Given the description of an element on the screen output the (x, y) to click on. 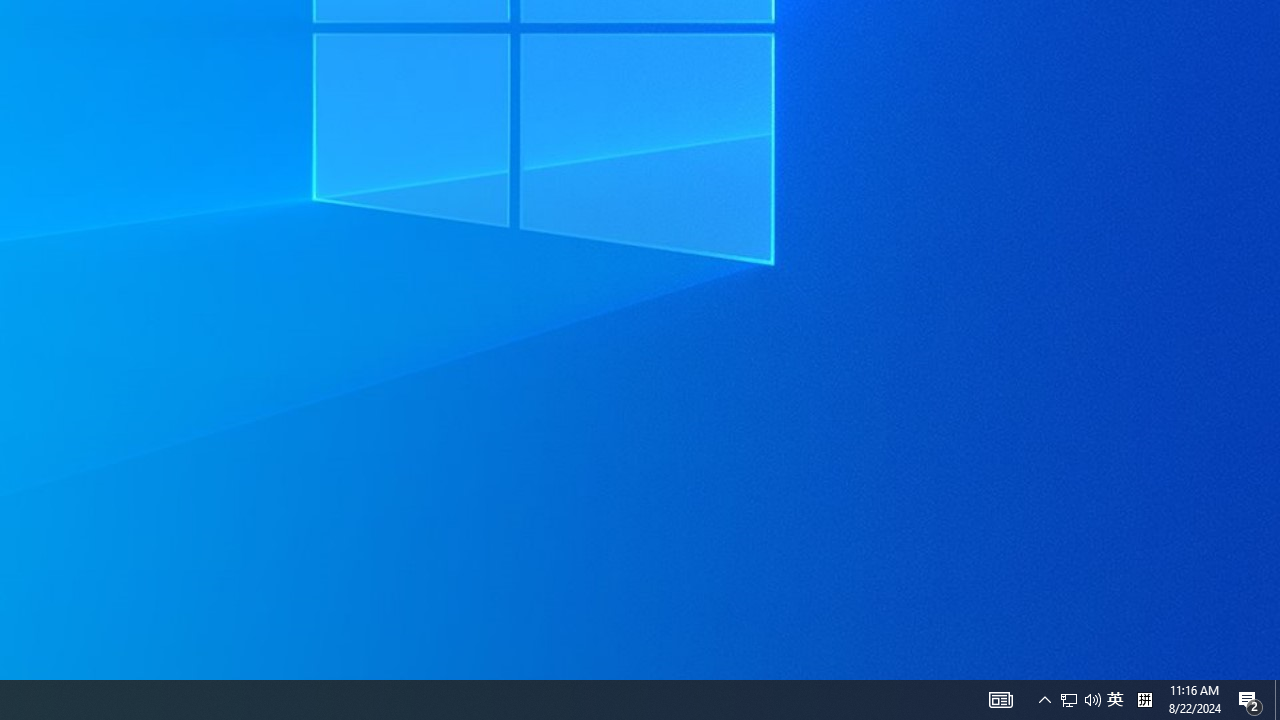
Q2790: 100% (1092, 699)
Action Center, 2 new notifications (1069, 699)
Notification Chevron (1115, 699)
AutomationID: 4105 (1250, 699)
Show desktop (1044, 699)
User Promoted Notification Area (1000, 699)
Tray Input Indicator - Chinese (Simplified, China) (1277, 699)
